Given the description of an element on the screen output the (x, y) to click on. 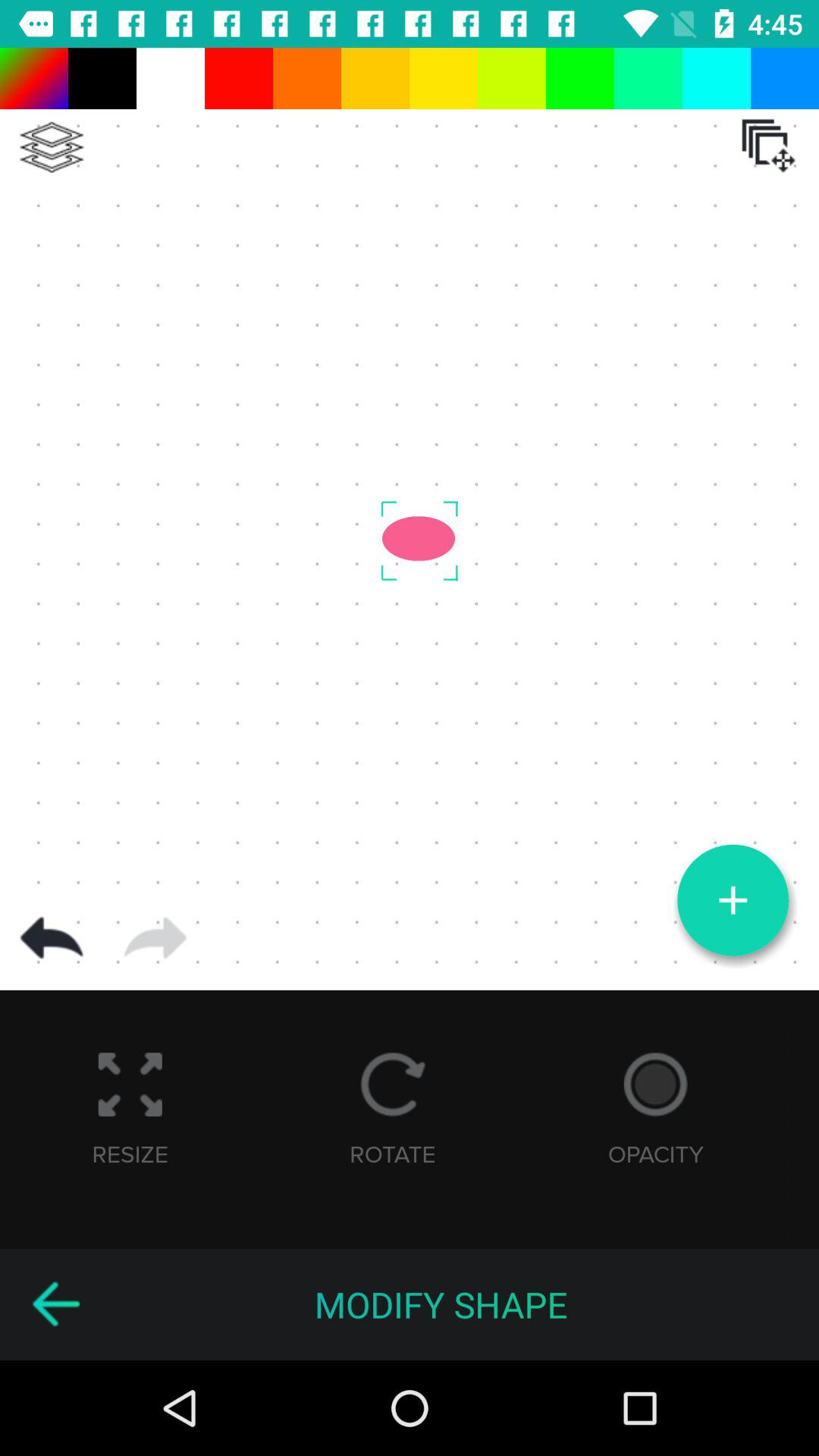
add shape (733, 900)
